Given the description of an element on the screen output the (x, y) to click on. 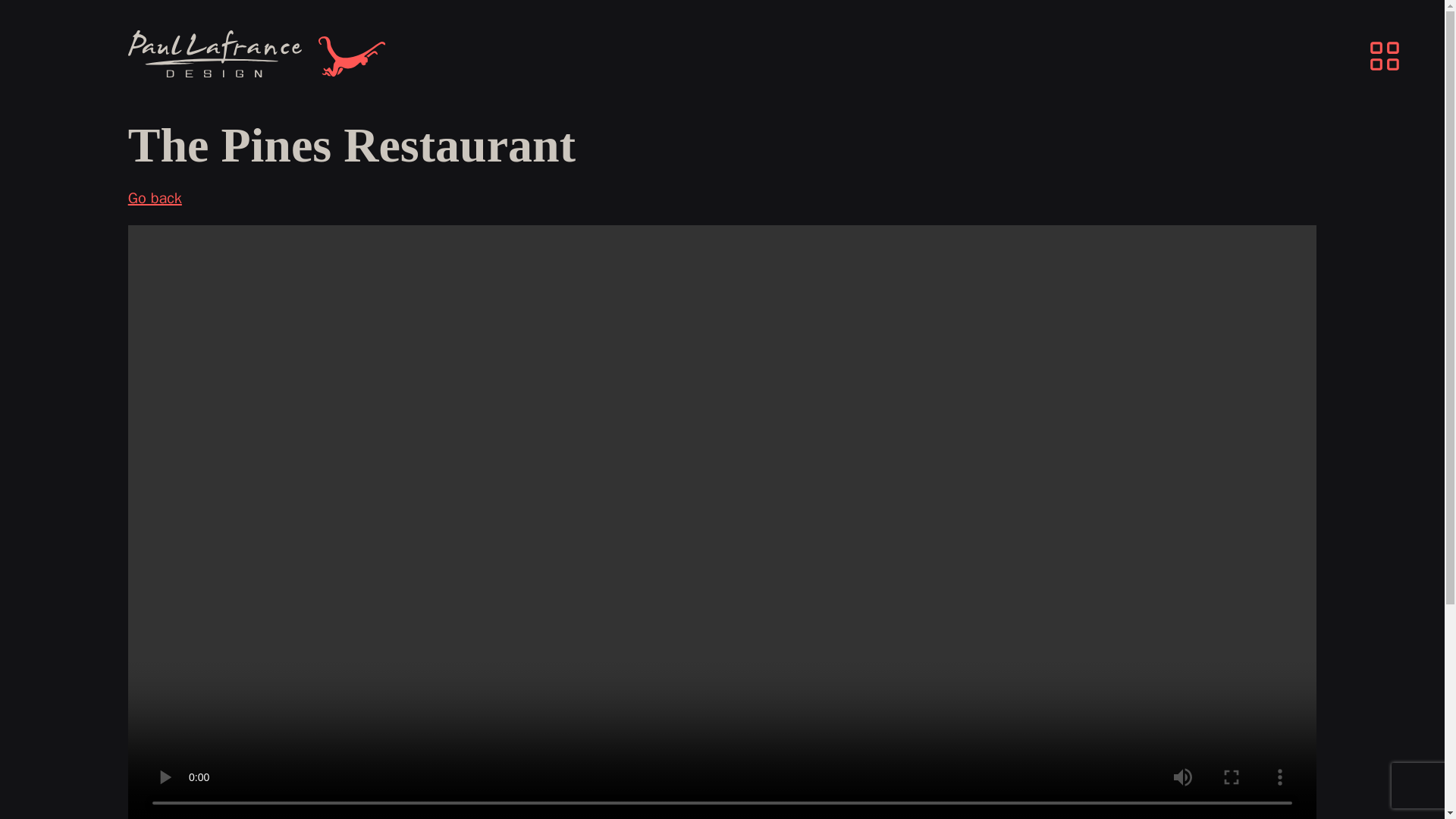
Go back (155, 198)
